Given the description of an element on the screen output the (x, y) to click on. 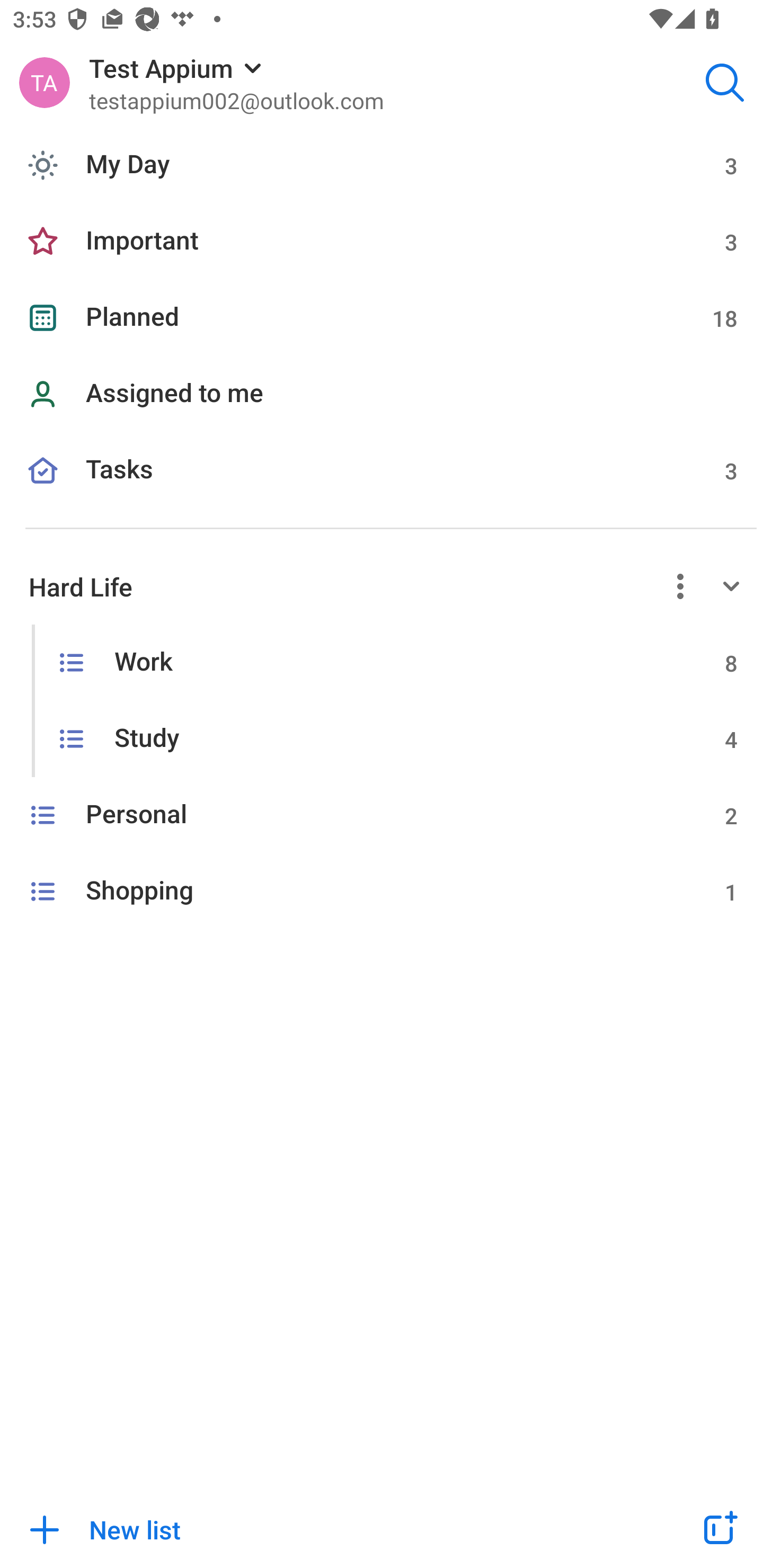
Enter search (724, 81)
